Given the description of an element on the screen output the (x, y) to click on. 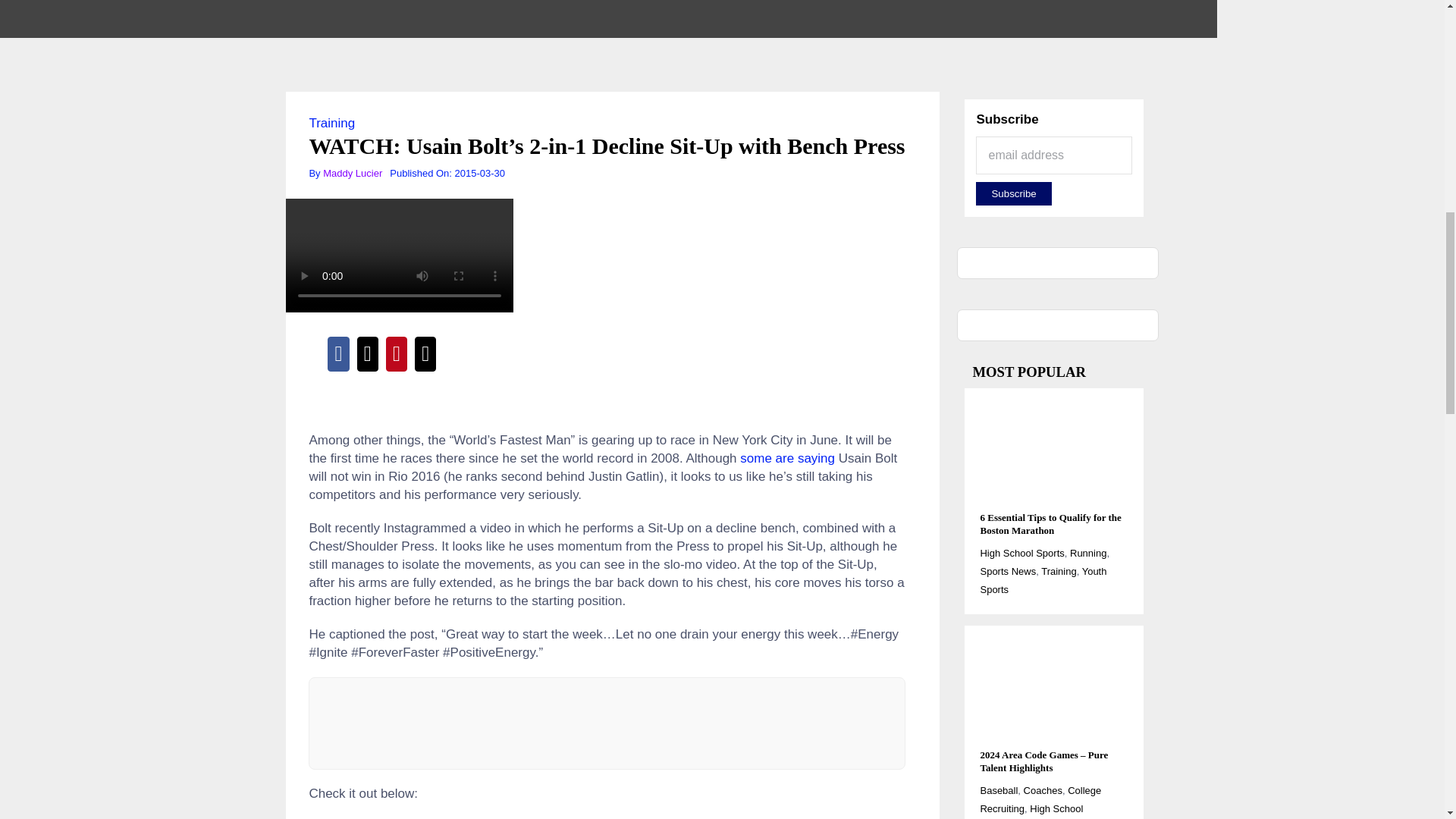
Subscribe (1013, 193)
Posts by Maddy Lucier (352, 173)
Training (331, 123)
